Given the description of an element on the screen output the (x, y) to click on. 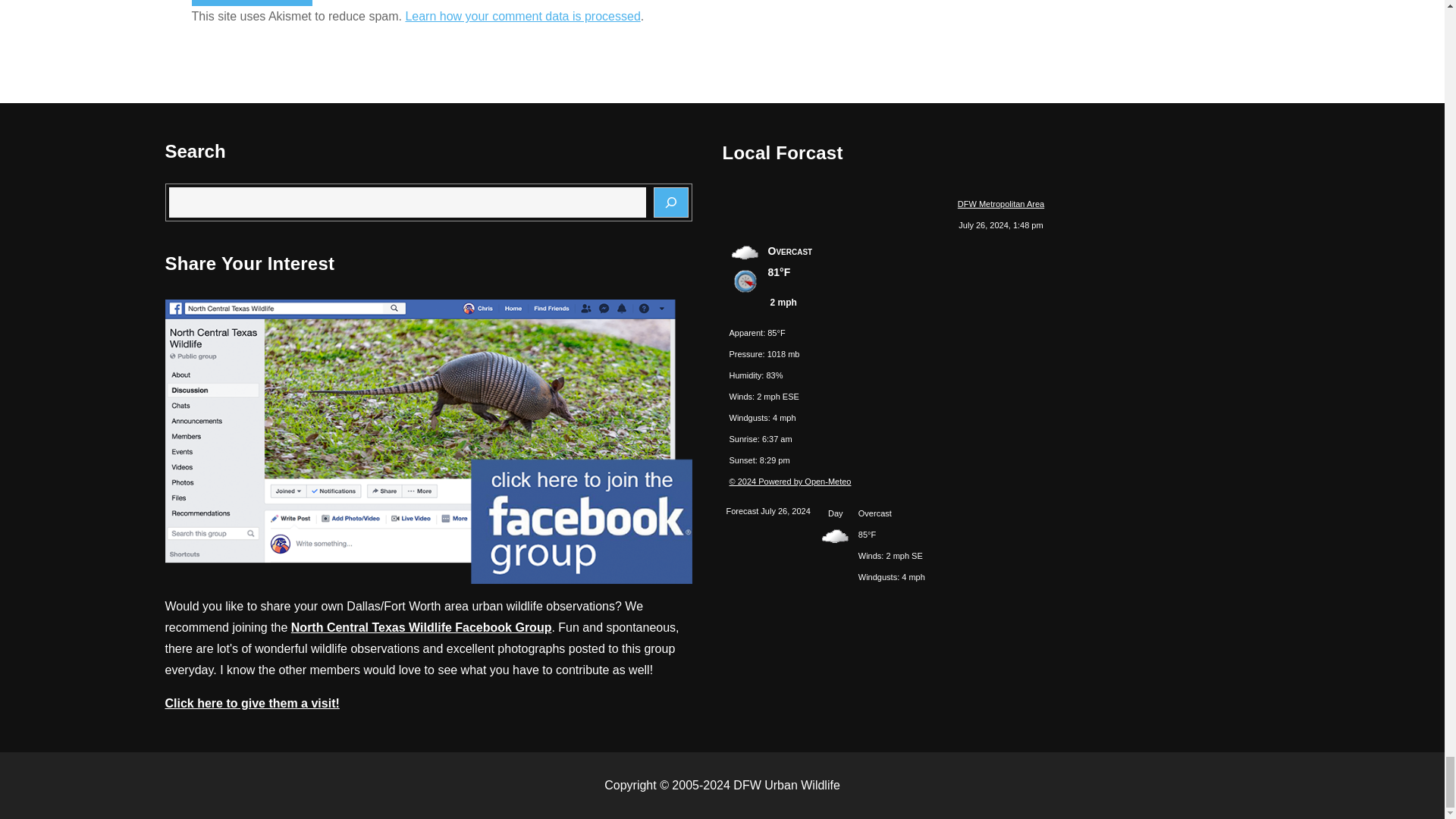
Post Comment (251, 2)
Post Comment (251, 2)
